Given the description of an element on the screen output the (x, y) to click on. 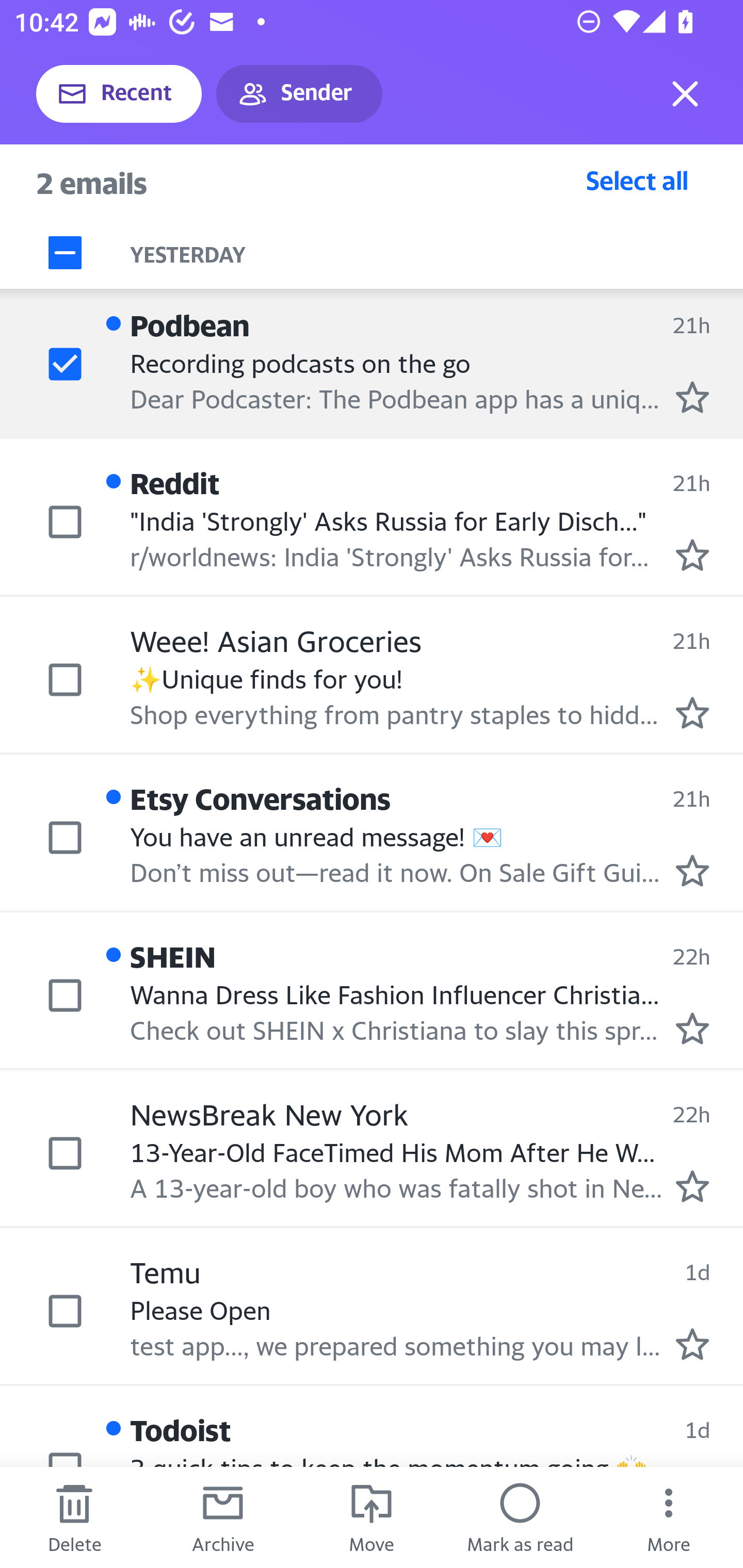
Sender (299, 93)
Exit selection mode (684, 93)
Select all (637, 180)
Mark as starred. (692, 397)
Mark as starred. (692, 554)
Mark as starred. (692, 712)
Mark as starred. (692, 870)
Mark as starred. (692, 1027)
Mark as starred. (692, 1186)
Mark as starred. (692, 1344)
Delete (74, 1517)
Archive (222, 1517)
Move (371, 1517)
Mark as read (519, 1517)
More (668, 1517)
